Given the description of an element on the screen output the (x, y) to click on. 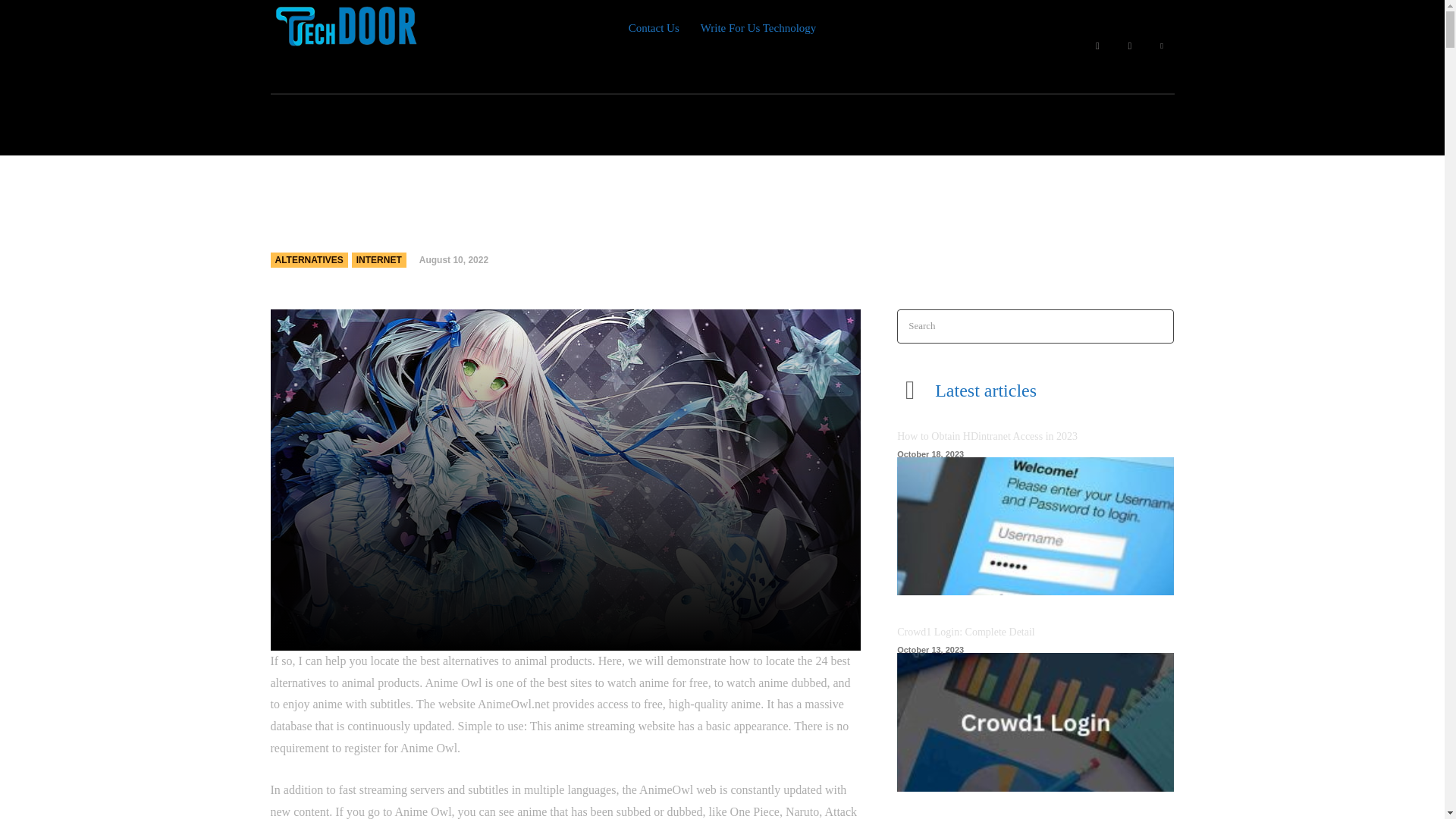
How to Obtain HDintranet Access in 2023 (986, 436)
Crowd1 Login: Complete Detail (1034, 721)
INTERNET (379, 259)
Write For Us Technology (758, 28)
Instagram (1130, 46)
ALTERNATIVES (308, 259)
Facebook (1096, 46)
Contact Us (653, 28)
Twitter (1162, 46)
Crowd1 Login: Complete Detail (965, 632)
How to Obtain HDintranet Access in 2023 (1034, 526)
